Given the description of an element on the screen output the (x, y) to click on. 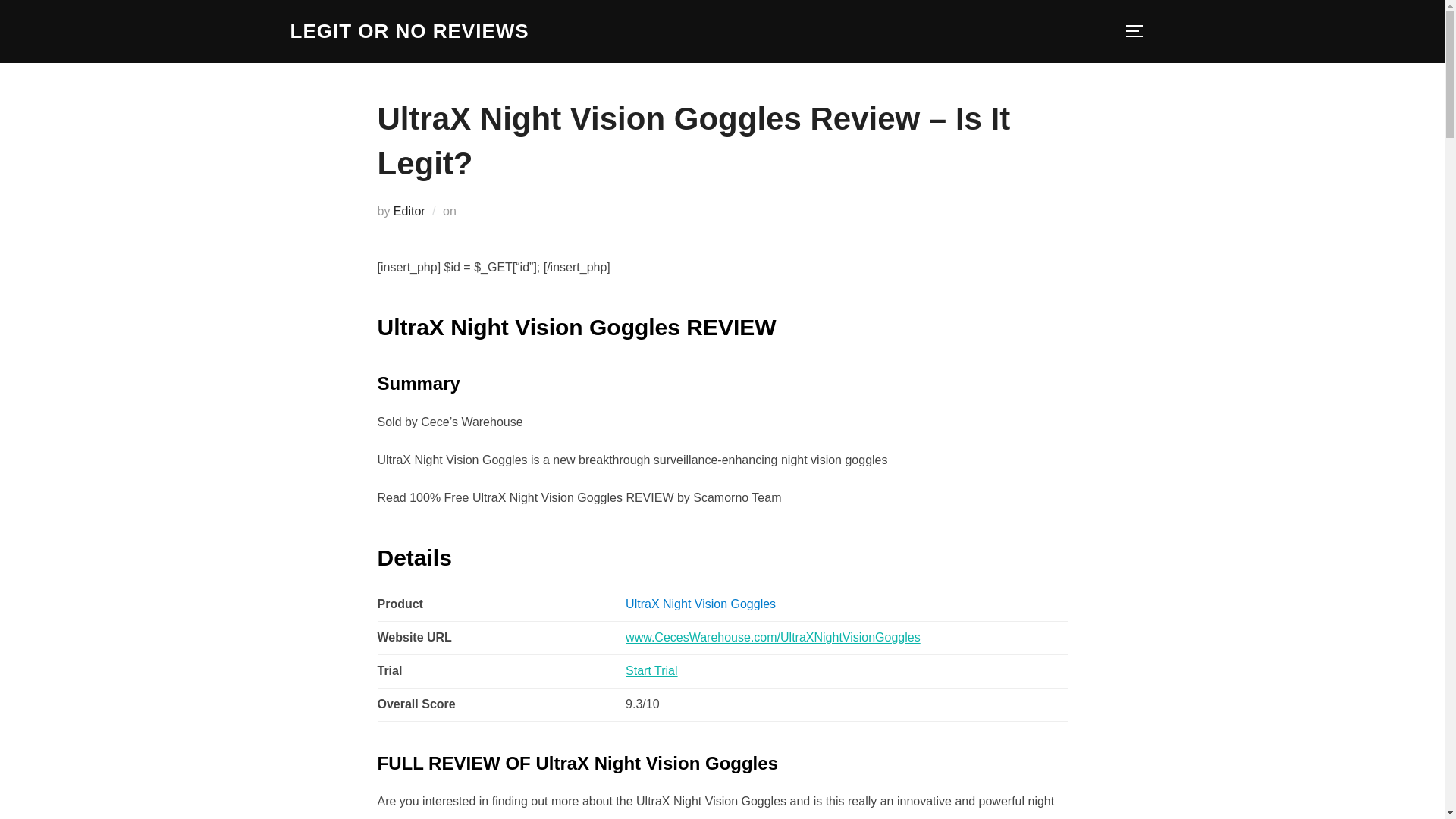
LEGIT OR NO REVIEWS (408, 31)
Start Trial (651, 670)
Editor (409, 210)
UltraX Night Vision Goggles (701, 603)
